Given the description of an element on the screen output the (x, y) to click on. 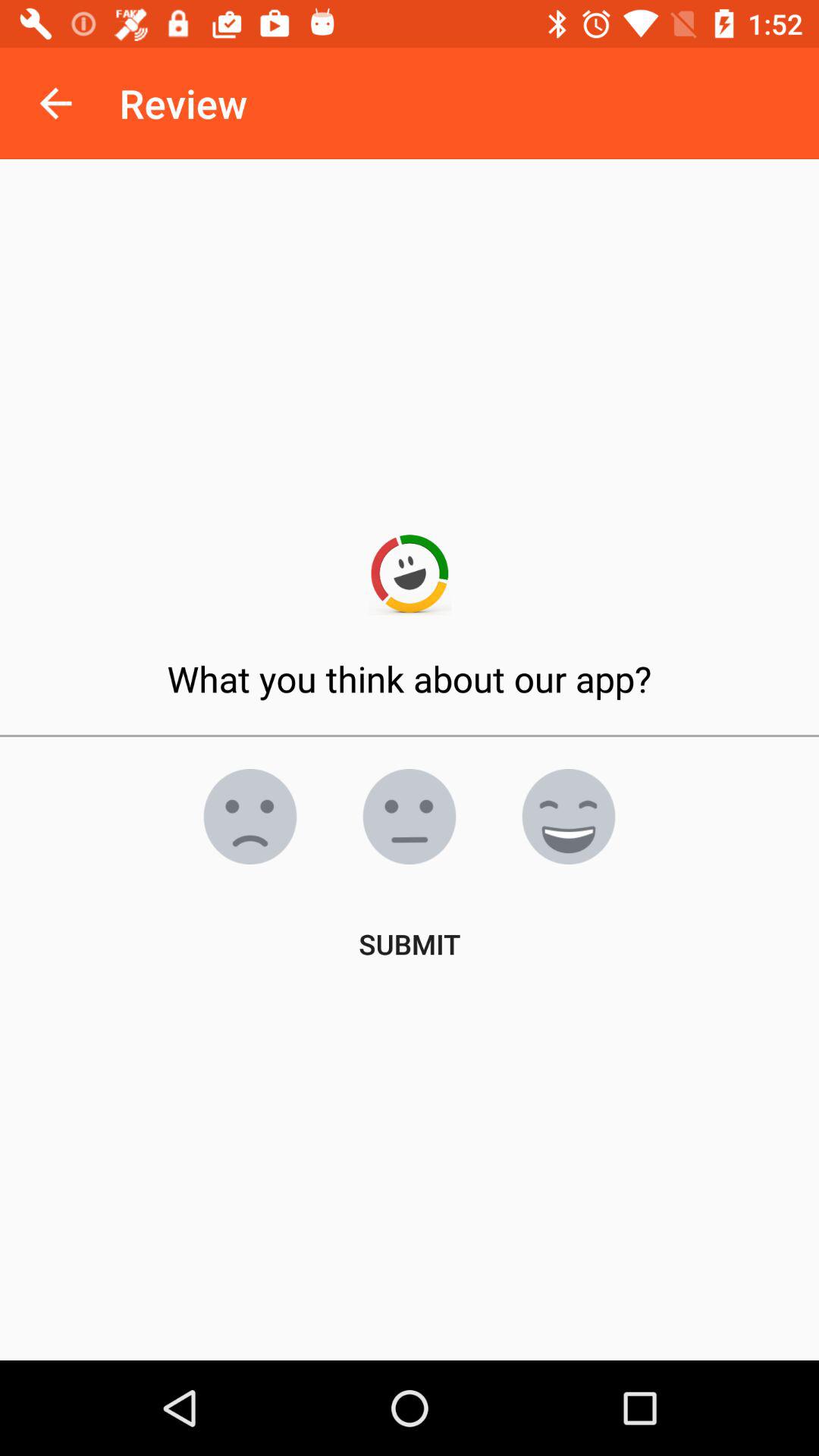
open the item above submit item (409, 816)
